Given the description of an element on the screen output the (x, y) to click on. 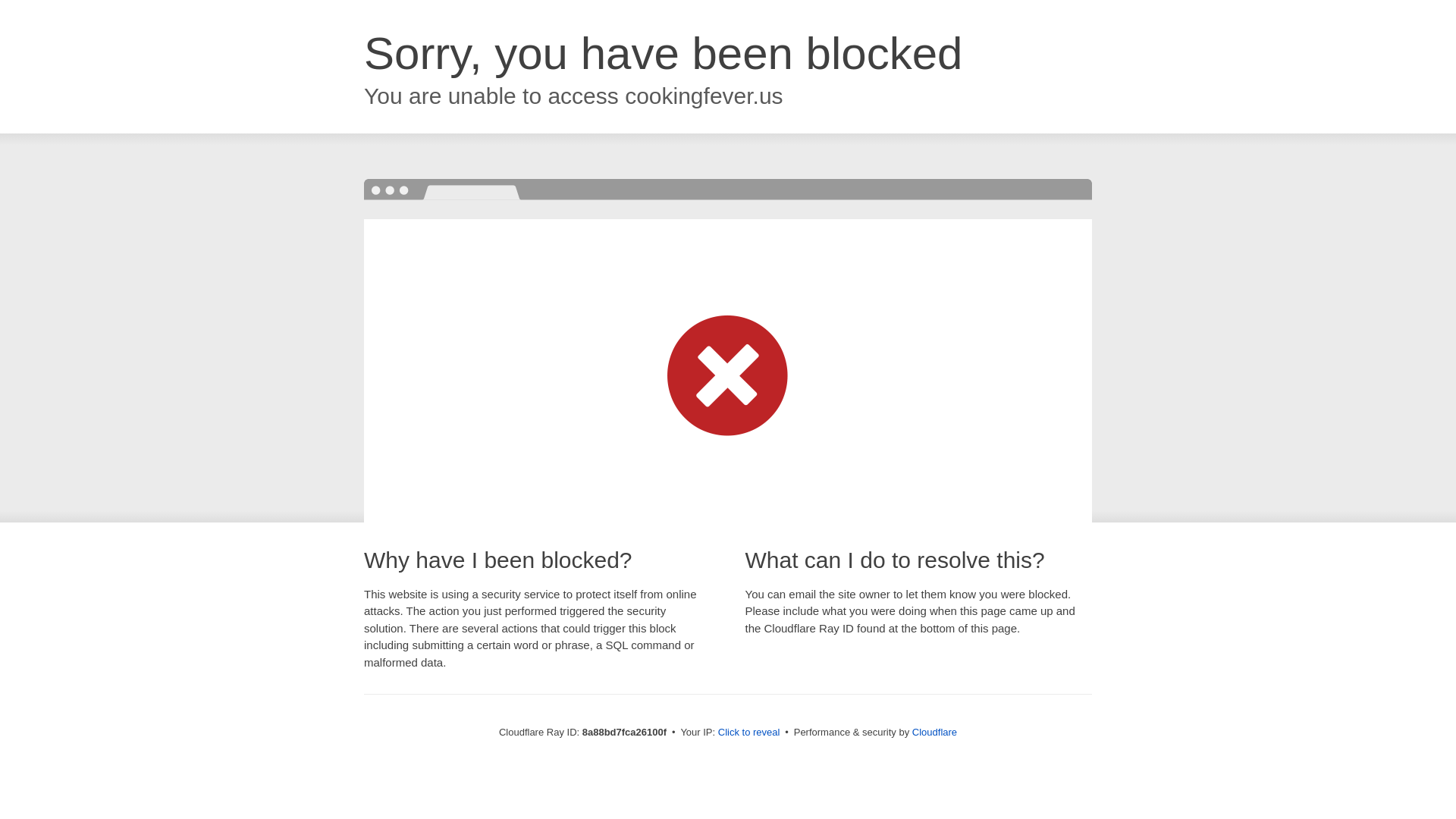
Click to reveal (748, 732)
Cloudflare (934, 731)
